Given the description of an element on the screen output the (x, y) to click on. 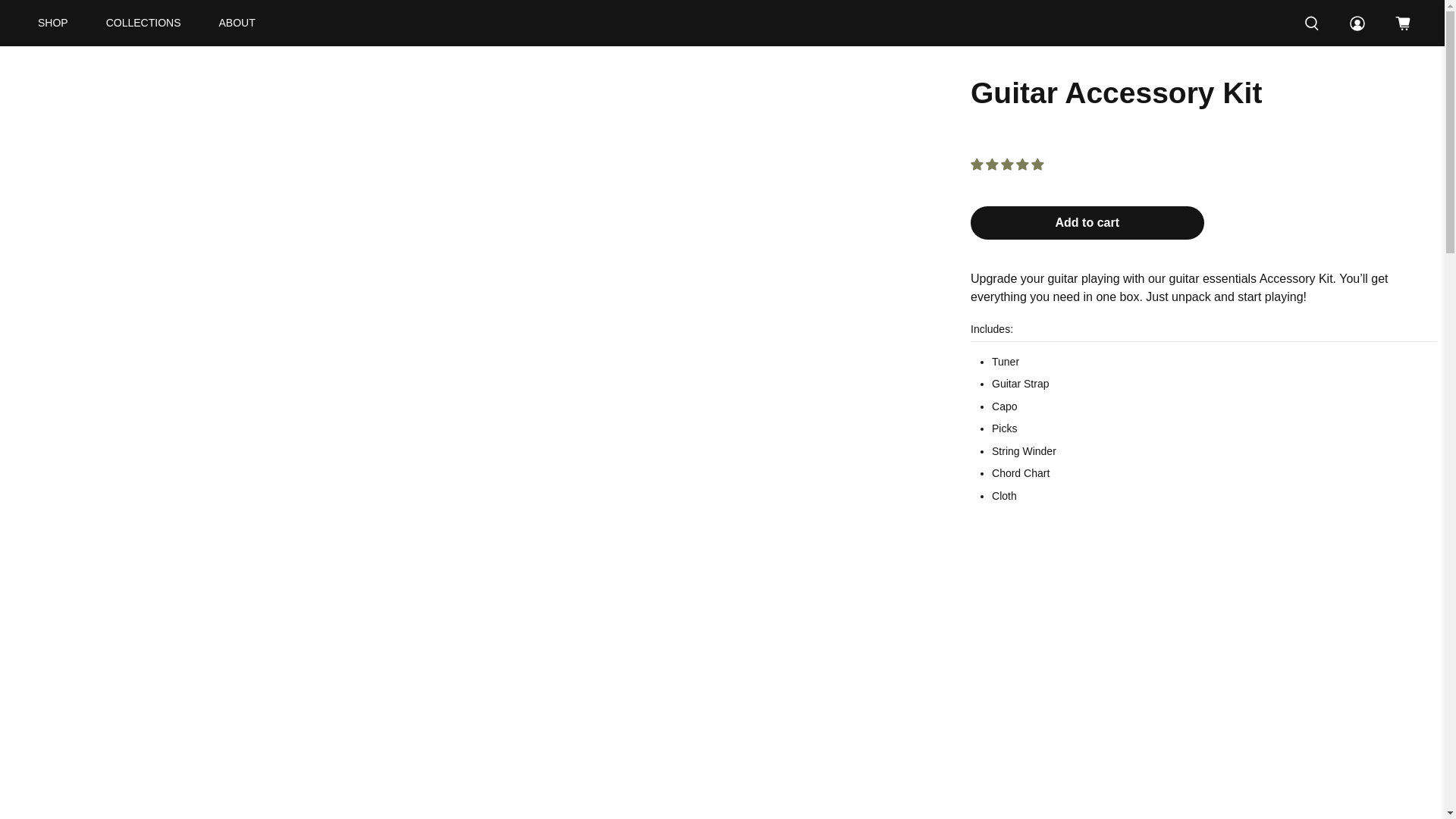
COLLECTIONS (143, 22)
Orangewood (722, 23)
SHOP (52, 22)
ABOUT (237, 22)
